Given the description of an element on the screen output the (x, y) to click on. 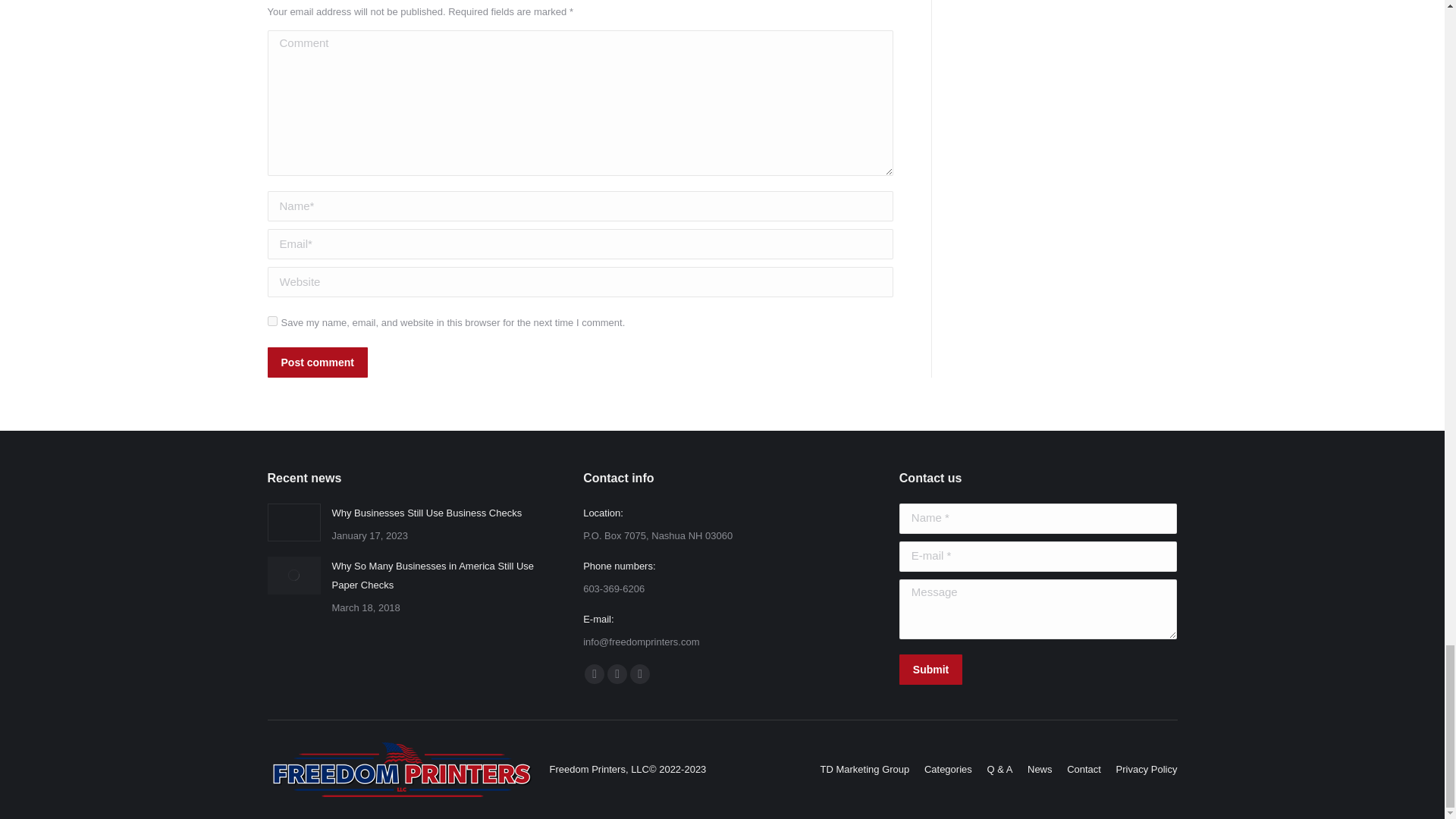
Post comment (316, 362)
yes (271, 320)
submit (1002, 670)
